Given the description of an element on the screen output the (x, y) to click on. 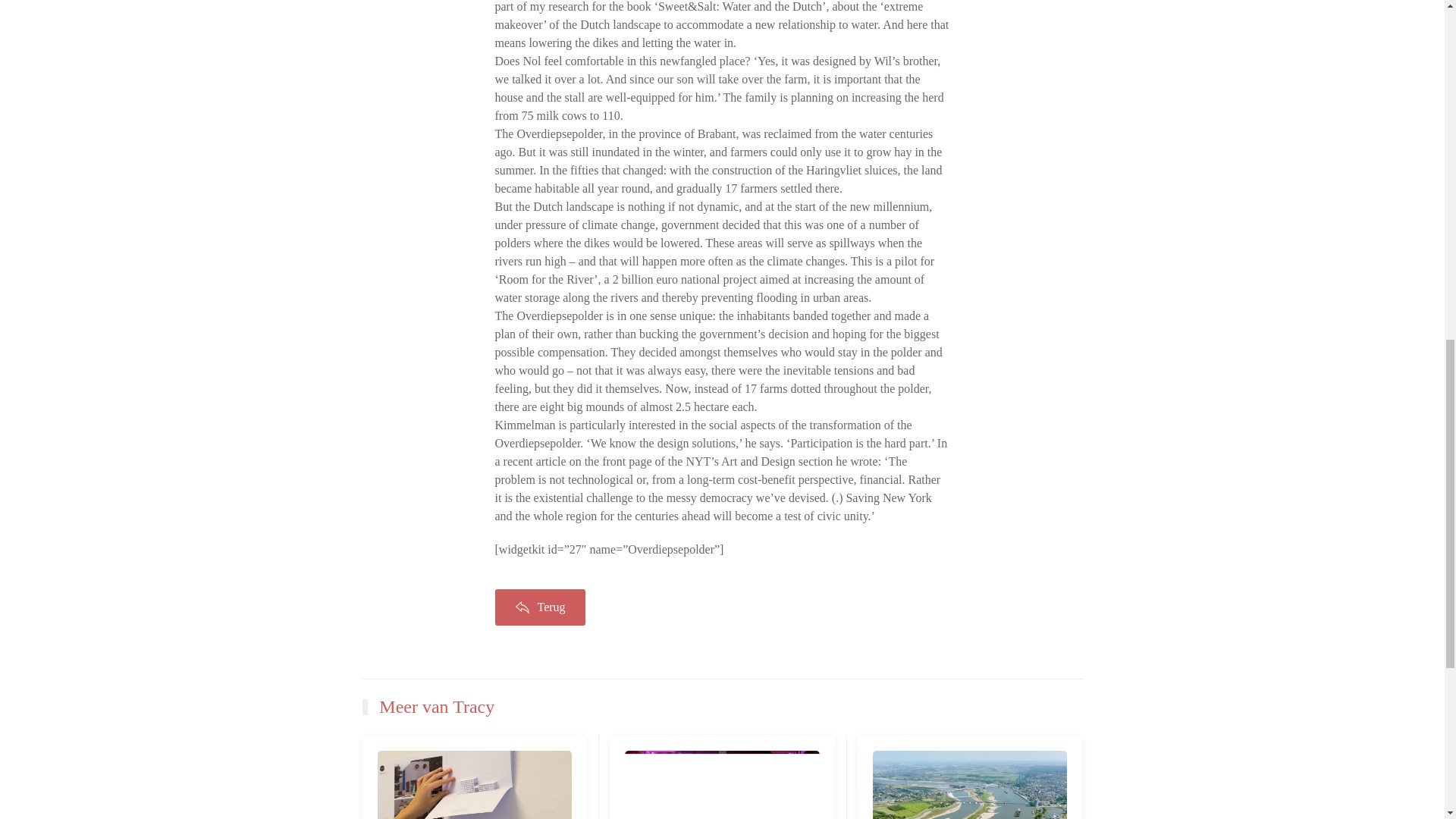
Terug (540, 606)
